Given the description of an element on the screen output the (x, y) to click on. 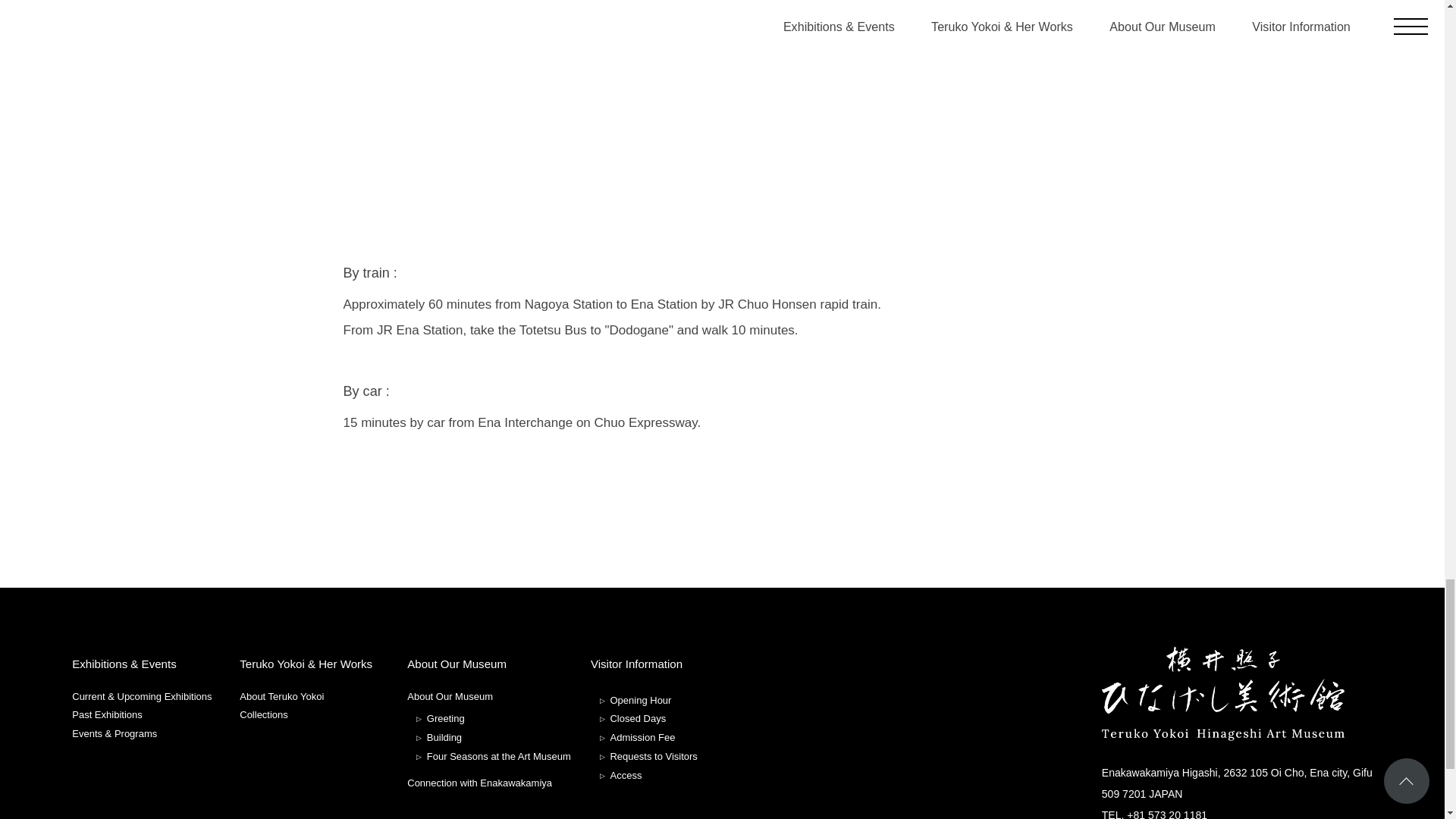
About Our Museum (456, 664)
Four Seasons at the Art Museum (492, 755)
Greeting (439, 719)
Connection with Enakawakamiya (479, 782)
Past Exhibitions (106, 714)
About Our Museum (450, 696)
Collections (264, 714)
About Teruko Yokoi (281, 696)
Building (437, 737)
